Given the description of an element on the screen output the (x, y) to click on. 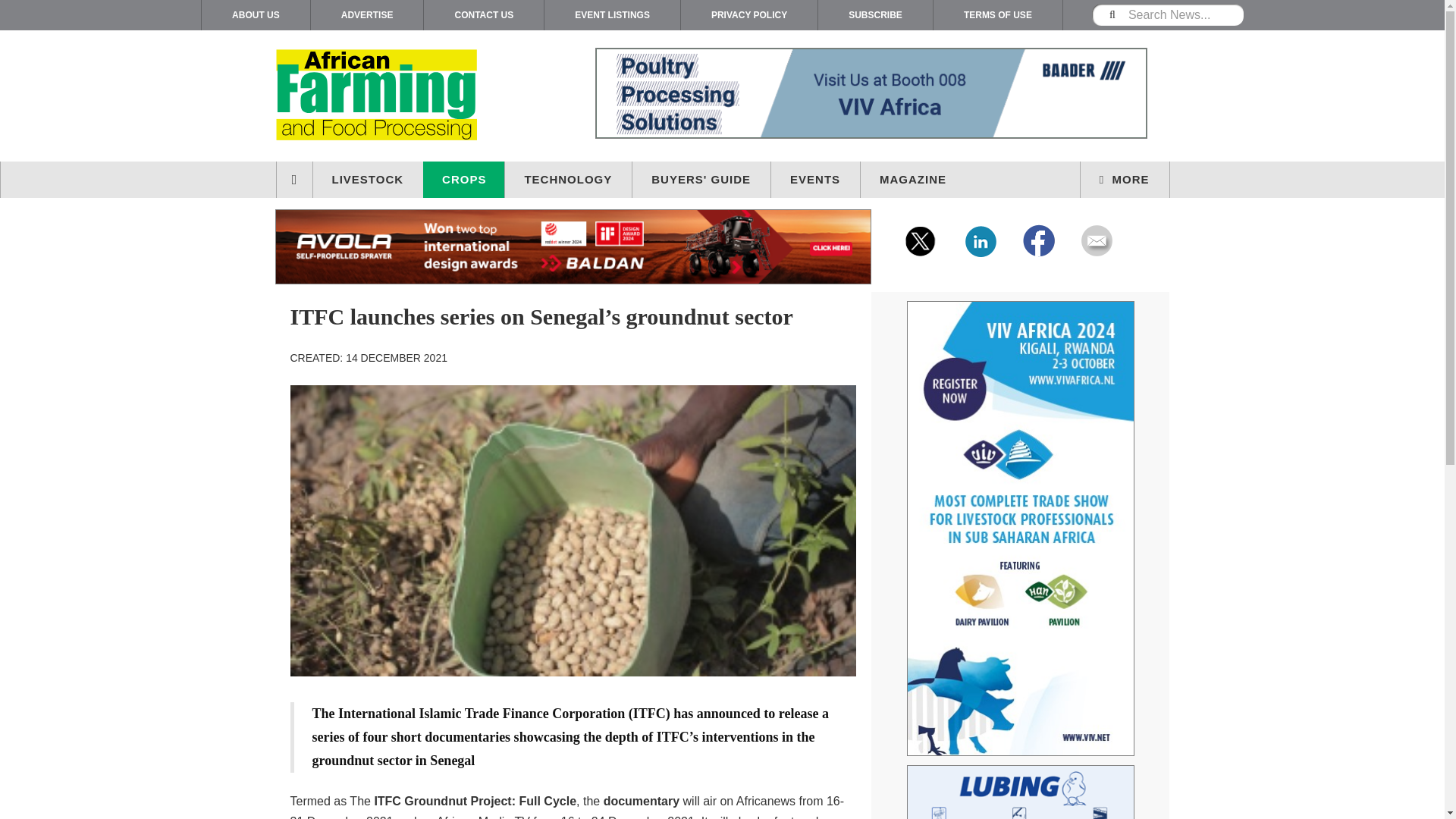
PRIVACY POLICY (748, 15)
TECHNOLOGY (568, 179)
BUYERS' GUIDE (700, 179)
CROPS (464, 179)
EVENTS (815, 179)
CONTACT US (483, 15)
ABOUT US (256, 15)
ADVERTISE (367, 15)
TERMS OF USE (997, 15)
LIVESTOCK (368, 179)
